Given the description of an element on the screen output the (x, y) to click on. 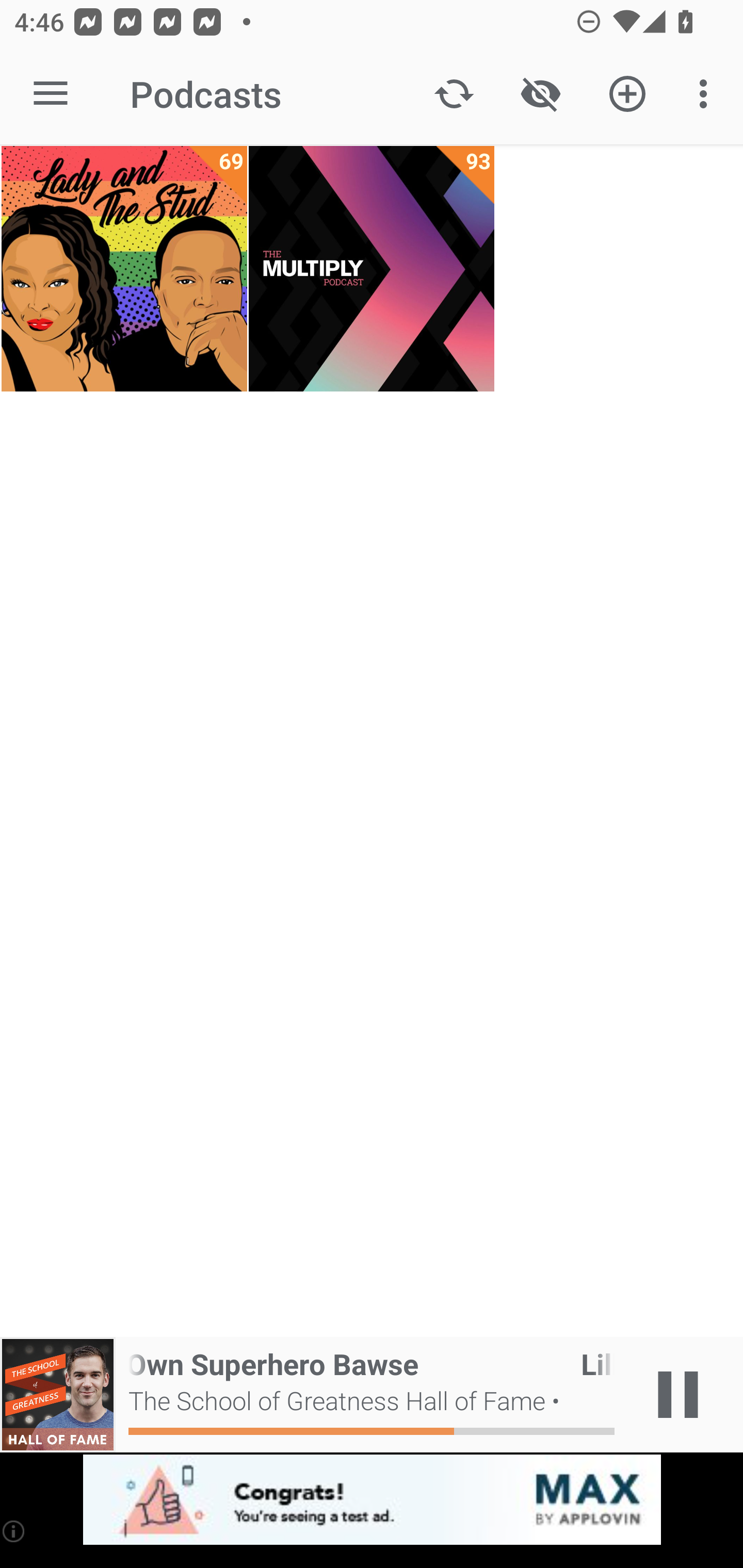
Open navigation sidebar (50, 93)
Update (453, 93)
Show / Hide played content (540, 93)
Add new Podcast (626, 93)
More options (706, 93)
Lady and The Stud 69 (124, 268)
The Multiply Podcast 93 (371, 268)
Play / Pause (677, 1394)
app-monetization (371, 1500)
(i) (14, 1531)
